Given the description of an element on the screen output the (x, y) to click on. 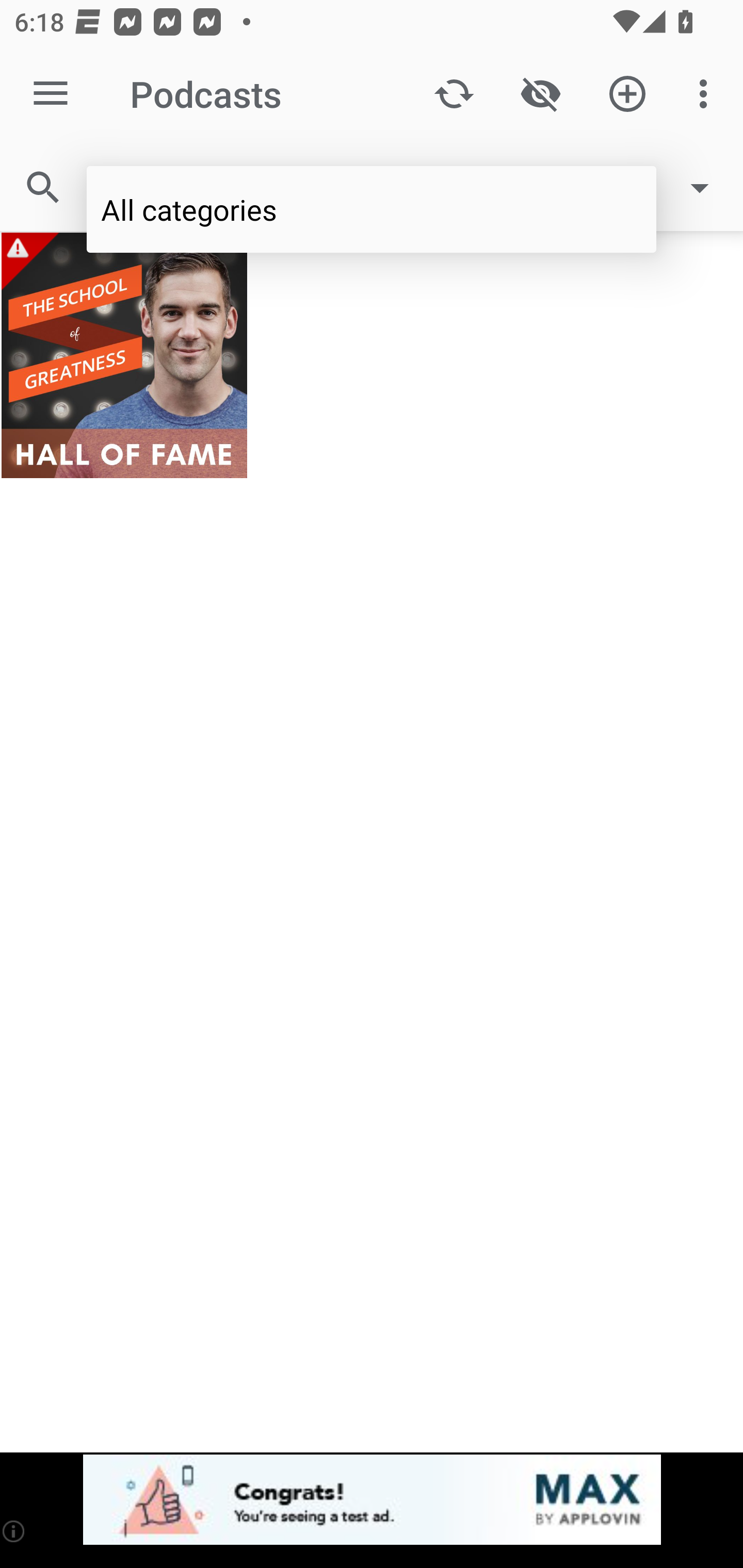
All categories (371, 209)
